Given the description of an element on the screen output the (x, y) to click on. 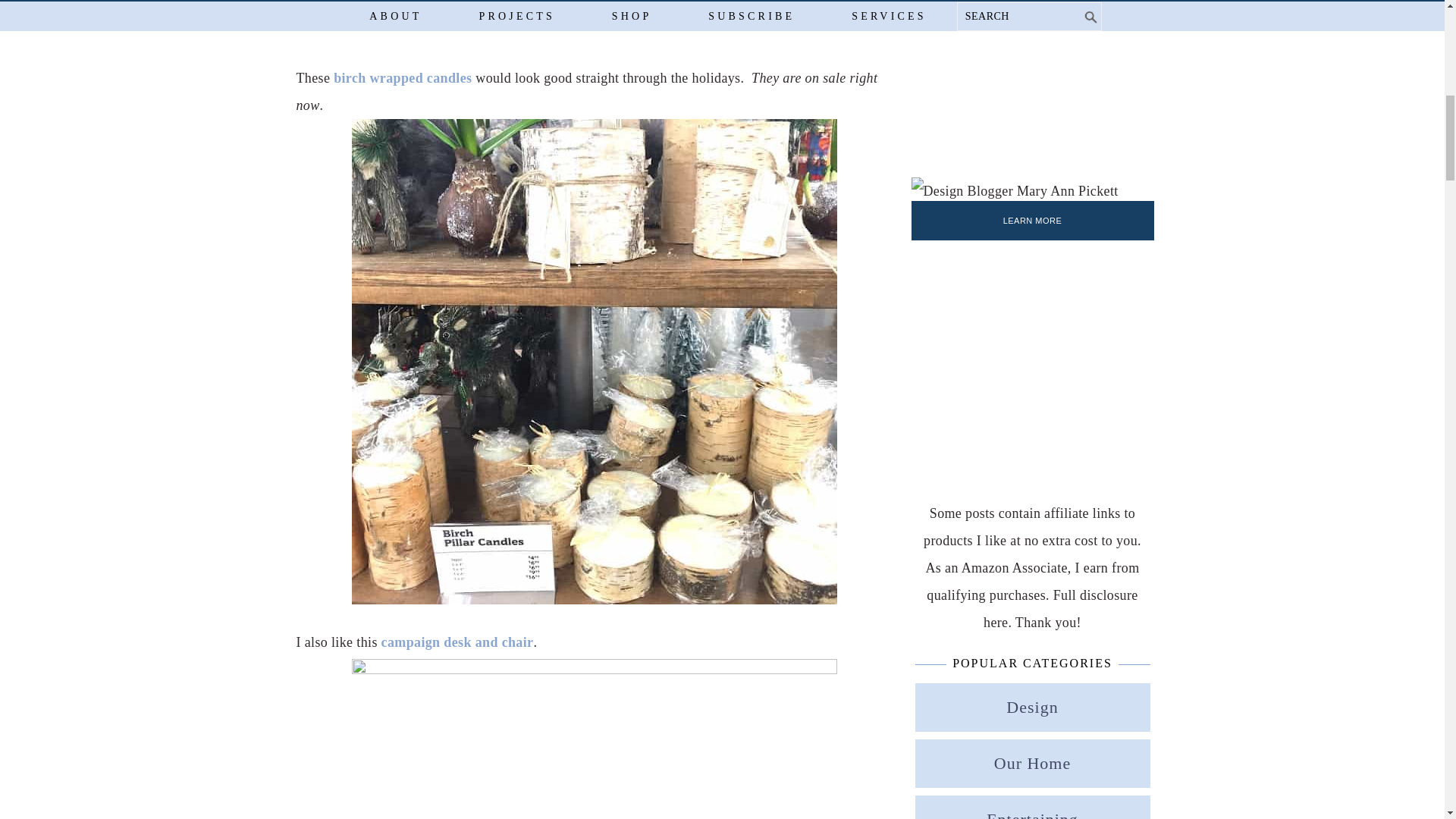
birch wrapped candles (402, 77)
About Me (1014, 191)
campaign desk and chair (457, 642)
